Given the description of an element on the screen output the (x, y) to click on. 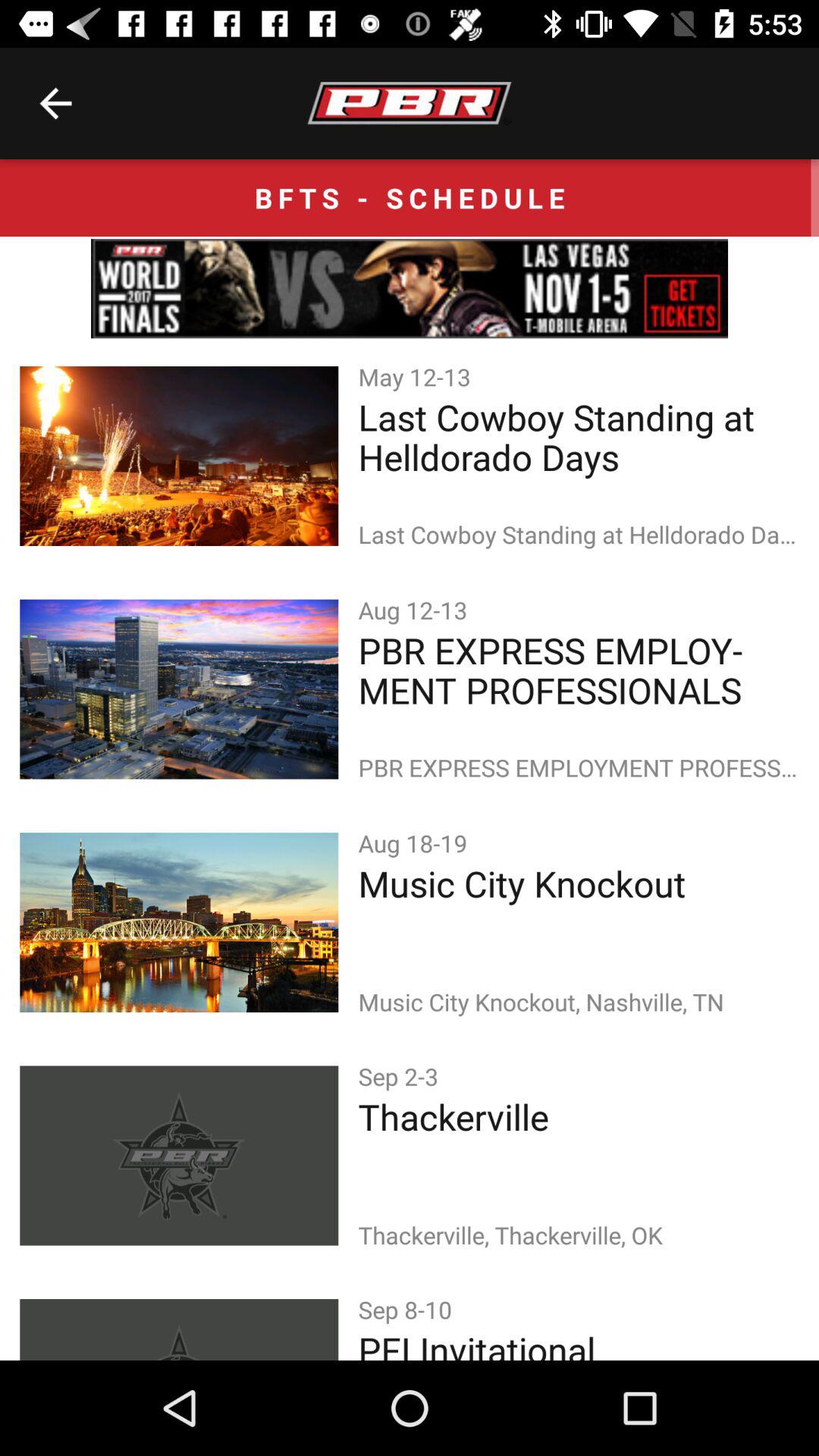
click the bfts - schedule (409, 197)
